Given the description of an element on the screen output the (x, y) to click on. 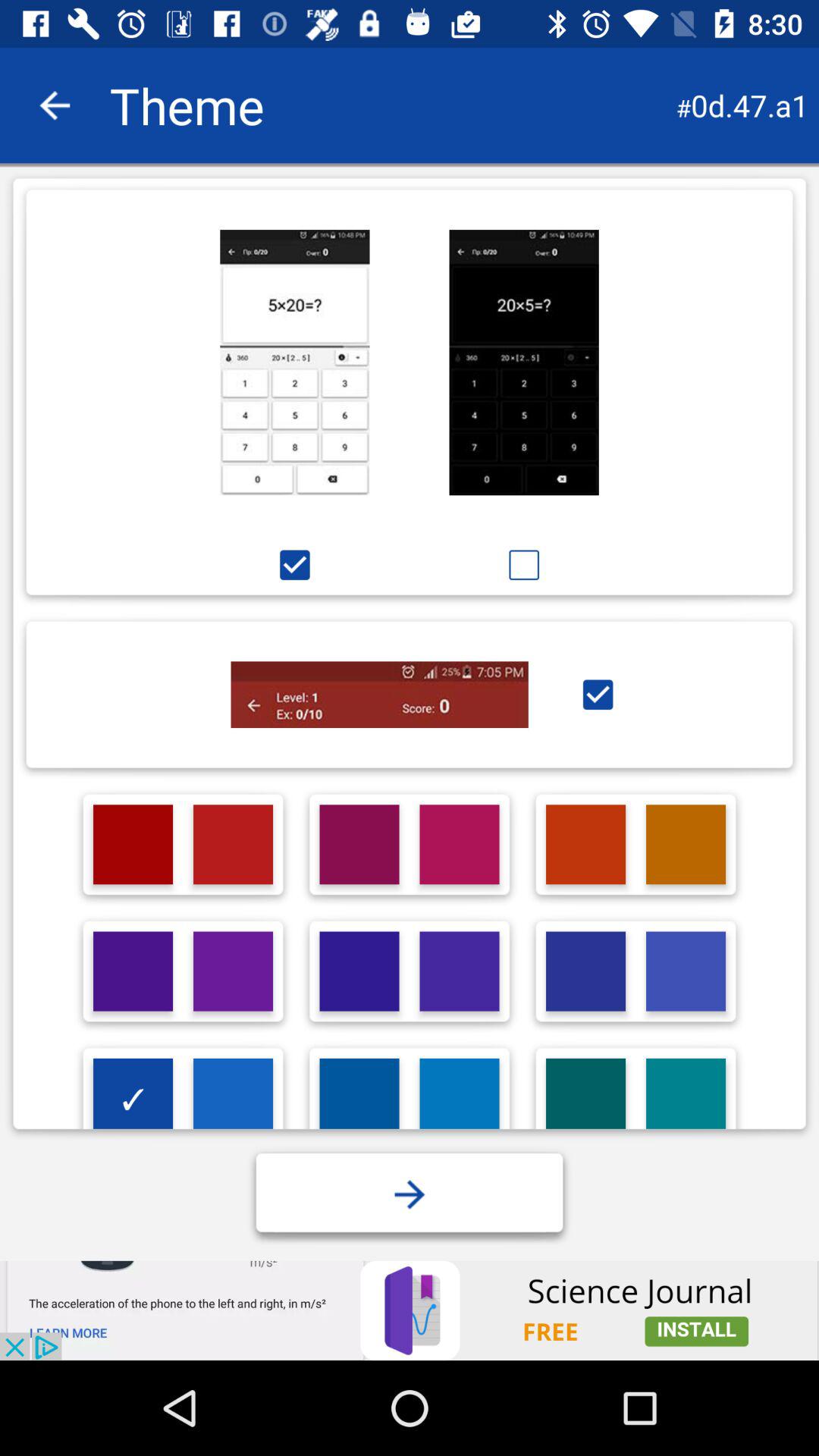
tick the column (597, 694)
